Given the description of an element on the screen output the (x, y) to click on. 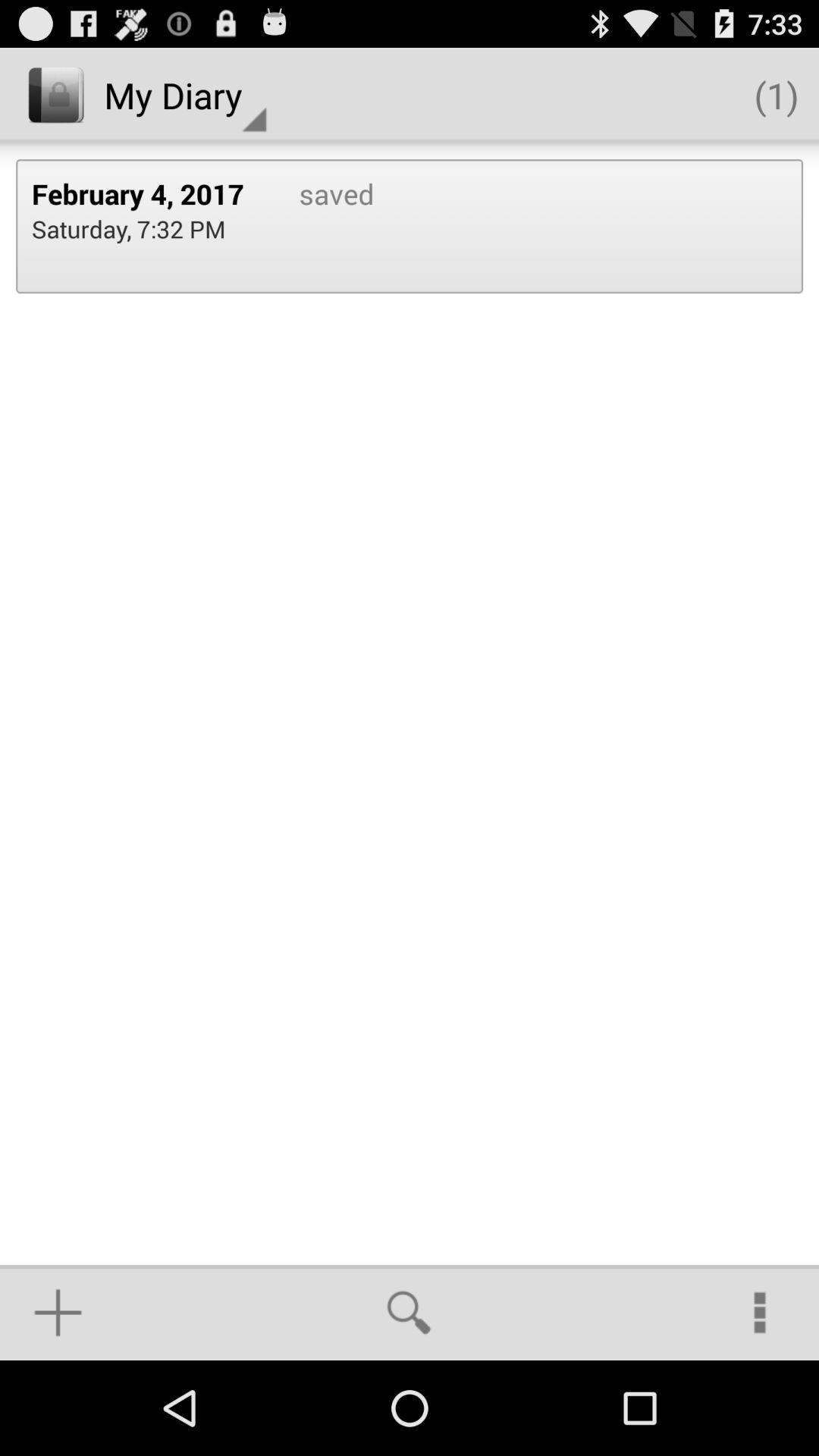
click the item below the february 4, 2017 app (128, 228)
